Given the description of an element on the screen output the (x, y) to click on. 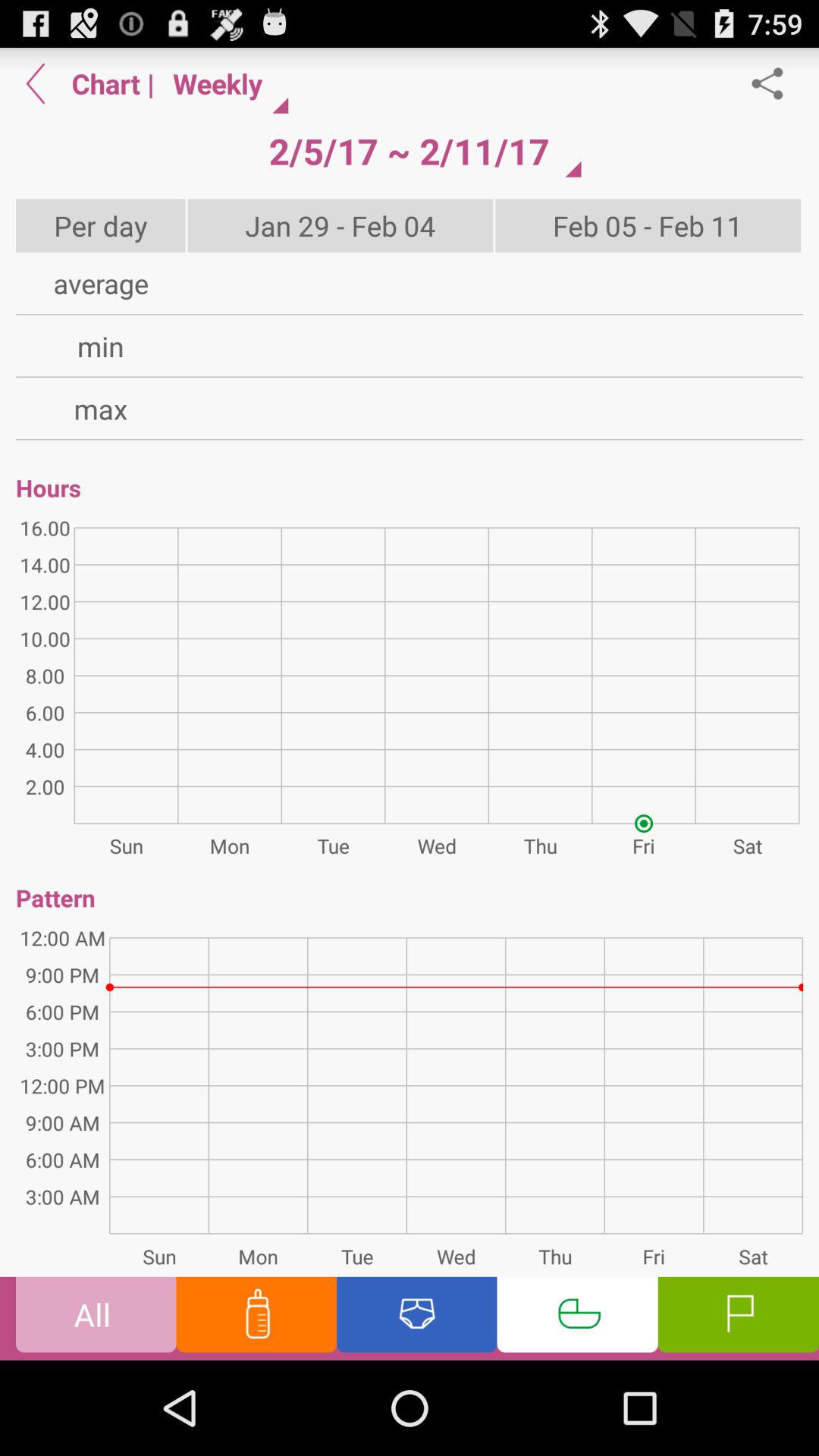
launch the app above jan 29 feb (409, 151)
